Given the description of an element on the screen output the (x, y) to click on. 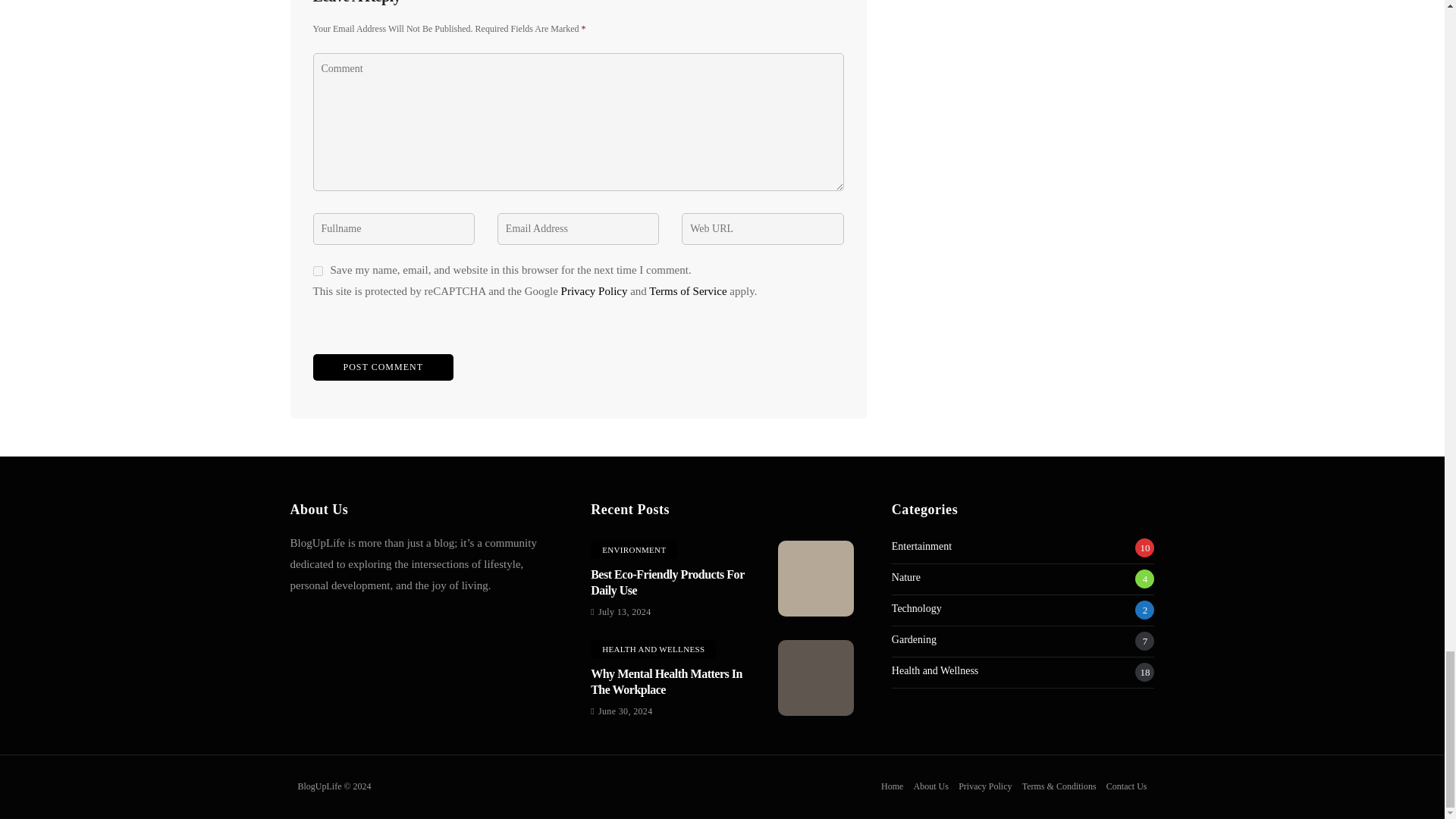
Post Comment (382, 366)
yes (317, 271)
